Given the description of an element on the screen output the (x, y) to click on. 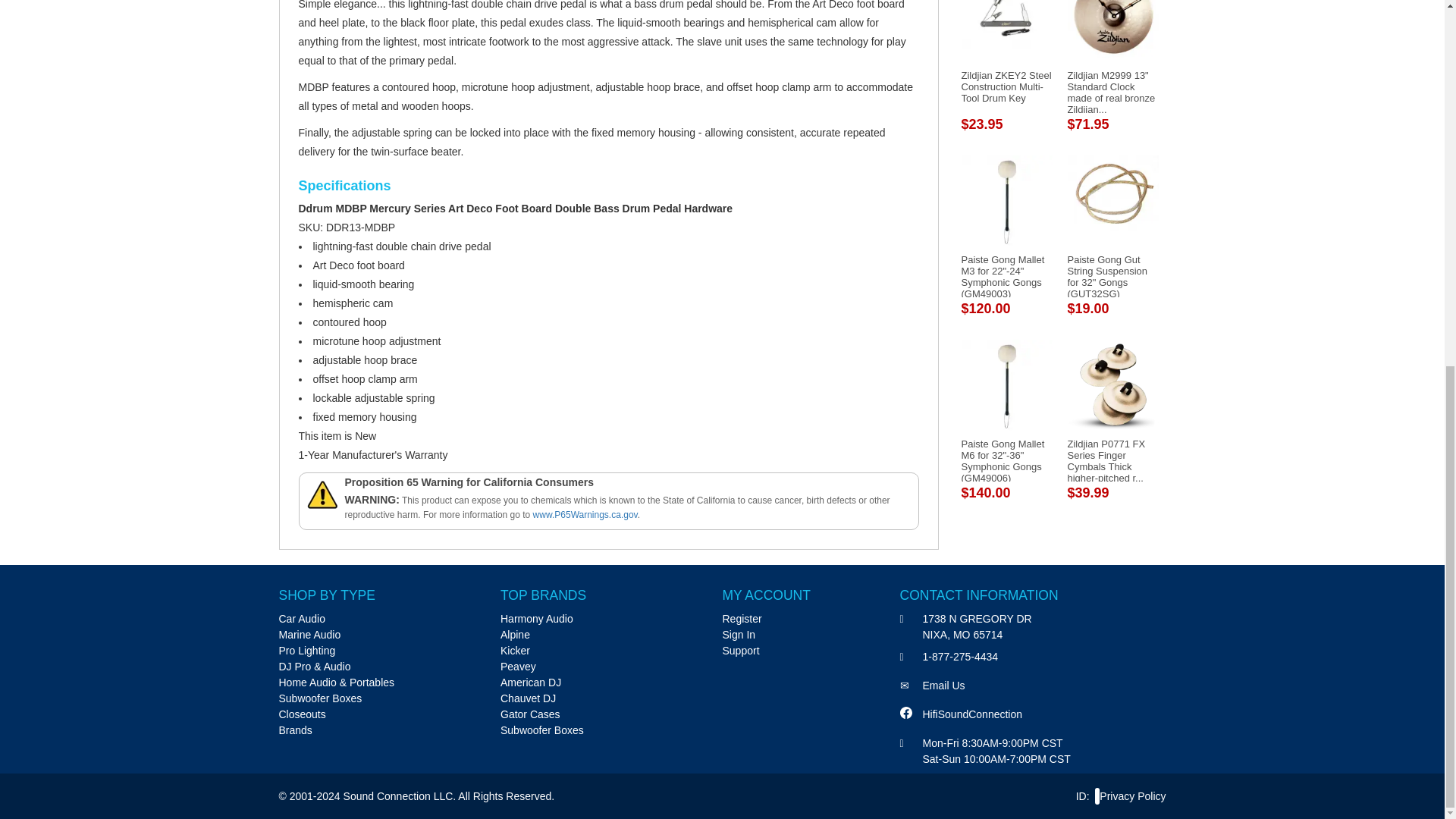
Zildjian ZKEY2 Steel Construction Multi-Tool Drum Key (1005, 86)
Brands (296, 729)
www.P65Warnings.ca.gov (584, 514)
Zildjian ZKEY2 Steel Construction Multi-Tool Drum Key (1005, 86)
